Given the description of an element on the screen output the (x, y) to click on. 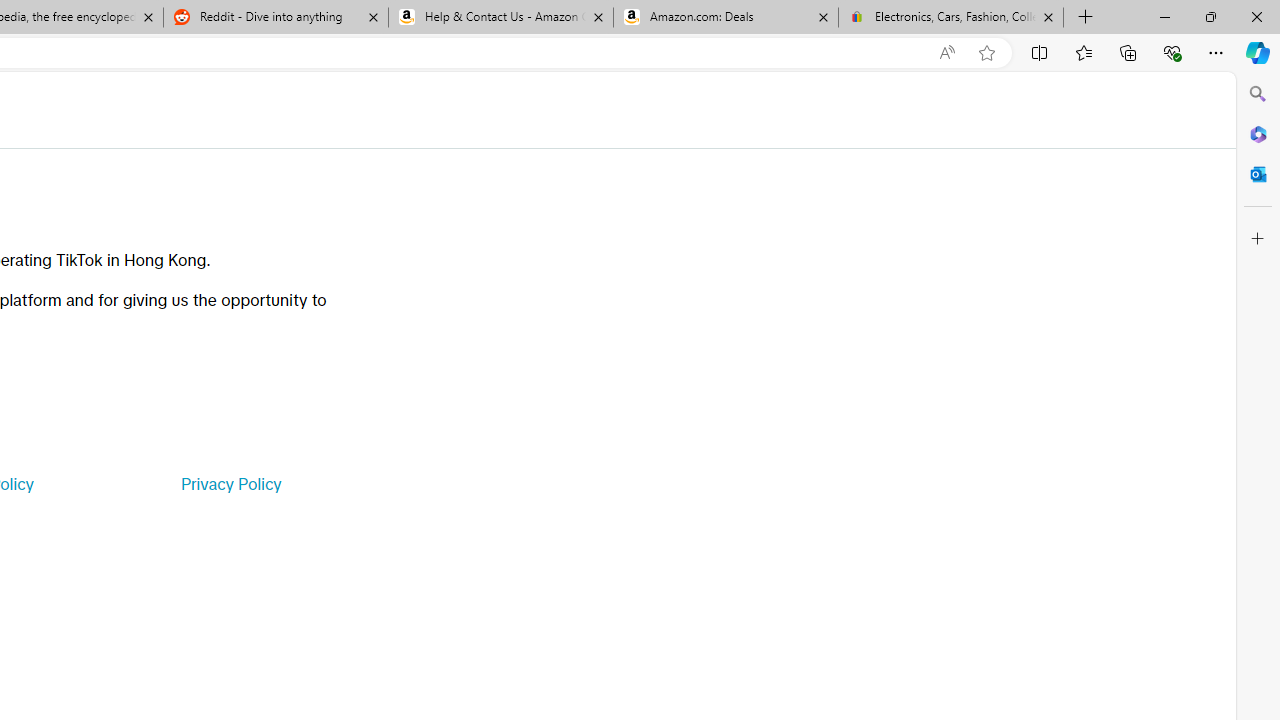
Amazon.com: Deals (726, 17)
